Given the description of an element on the screen output the (x, y) to click on. 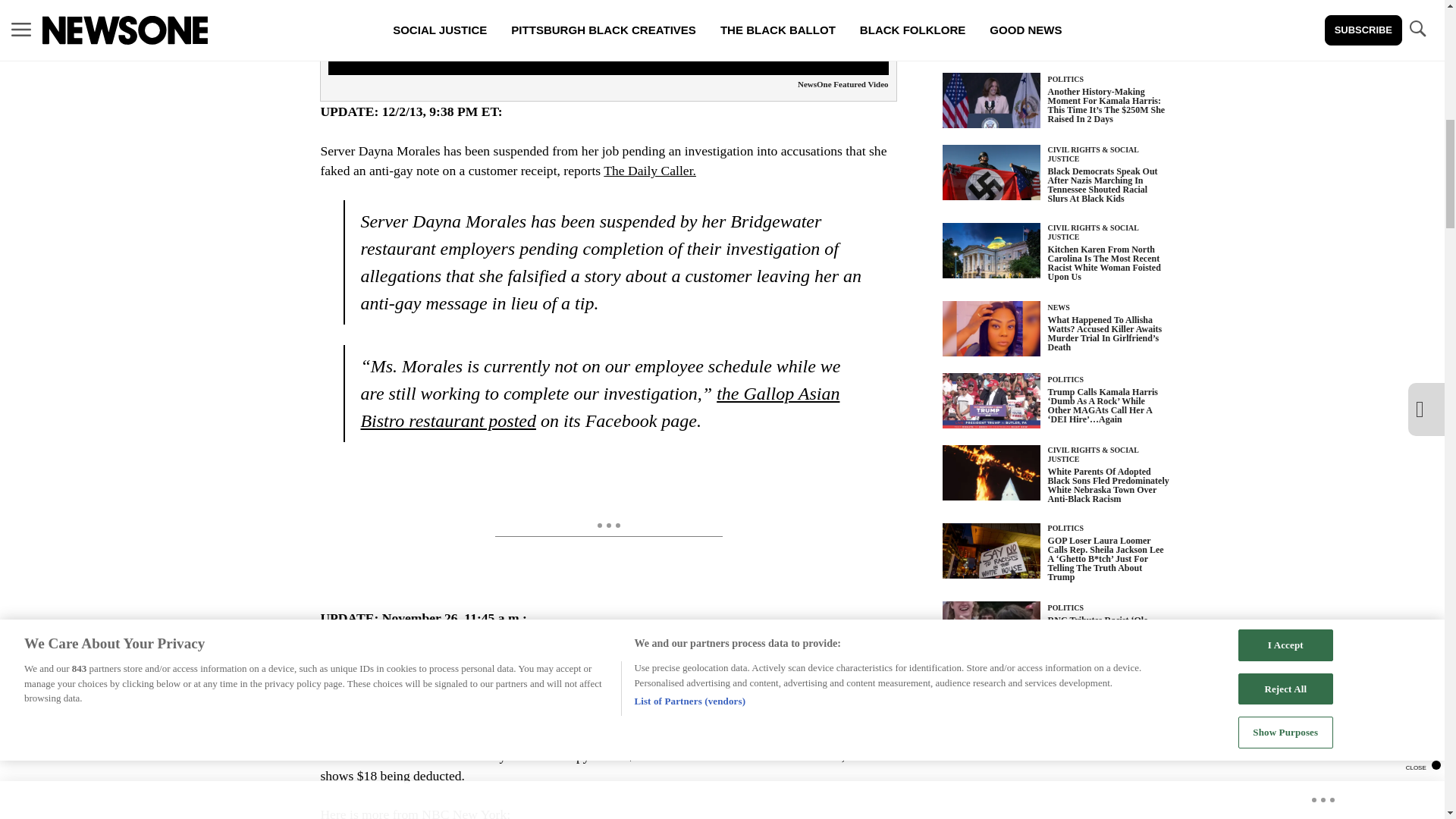
The Daily Caller. (649, 170)
the Gallop Asian Bistro restaurant posted (599, 407)
NBC New York reports (604, 686)
